Given the description of an element on the screen output the (x, y) to click on. 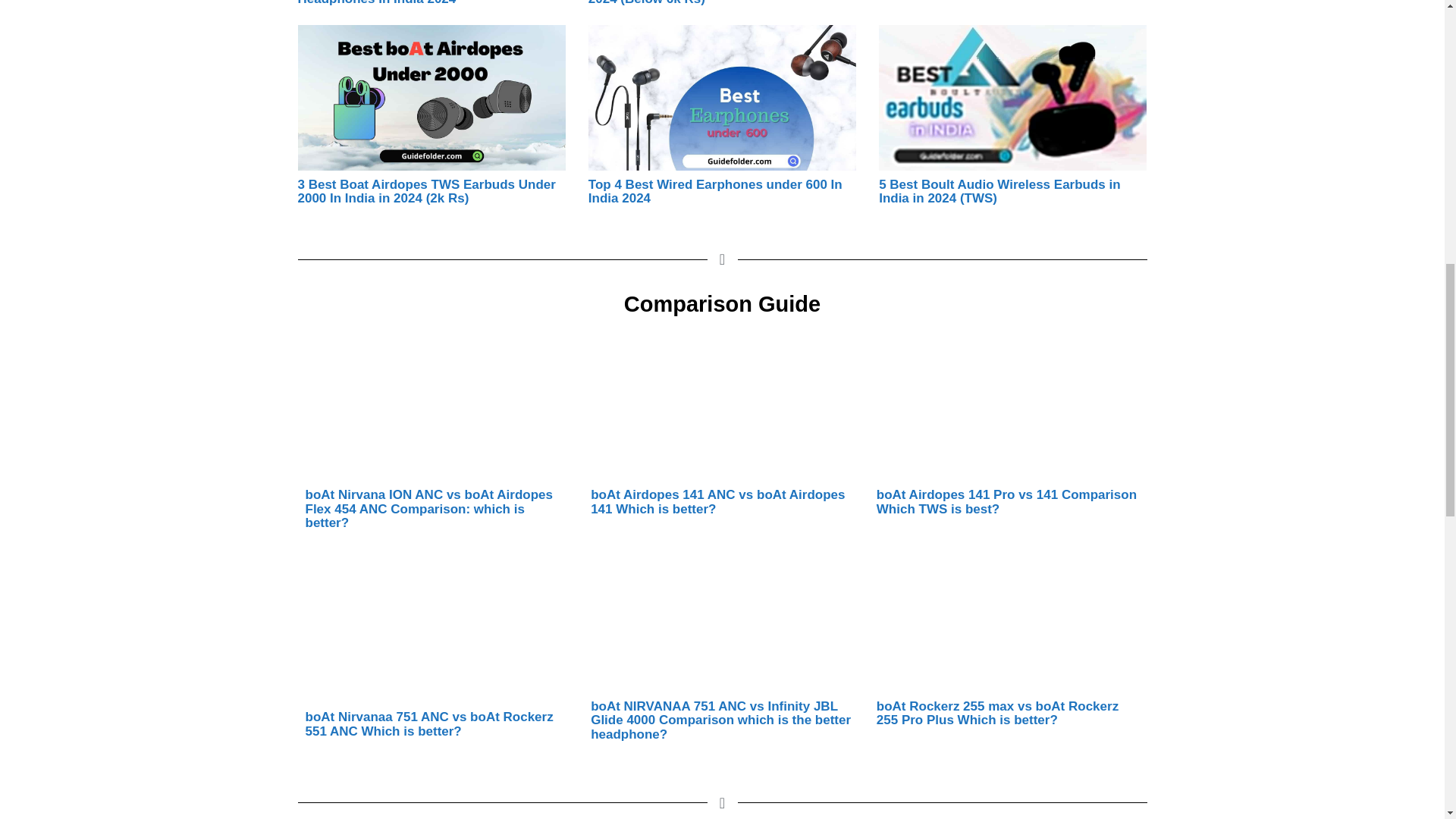
Top 6 Best boAt Rockerz Wireless Headphones In India 2024 (401, 2)
